Given the description of an element on the screen output the (x, y) to click on. 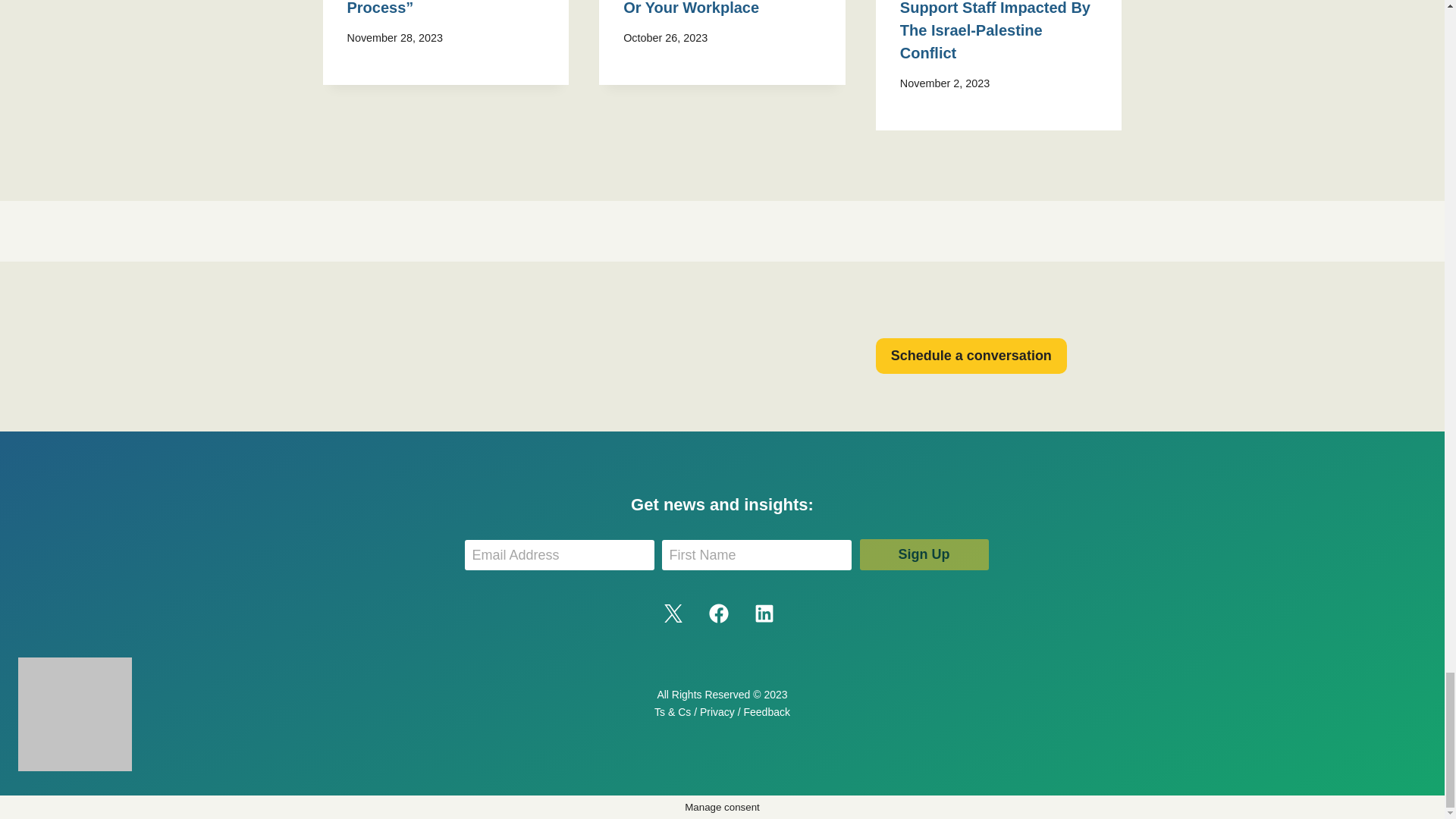
When Conflict Impacts You Or Your Workplace (720, 7)
Sign Up (924, 554)
